Given the description of an element on the screen output the (x, y) to click on. 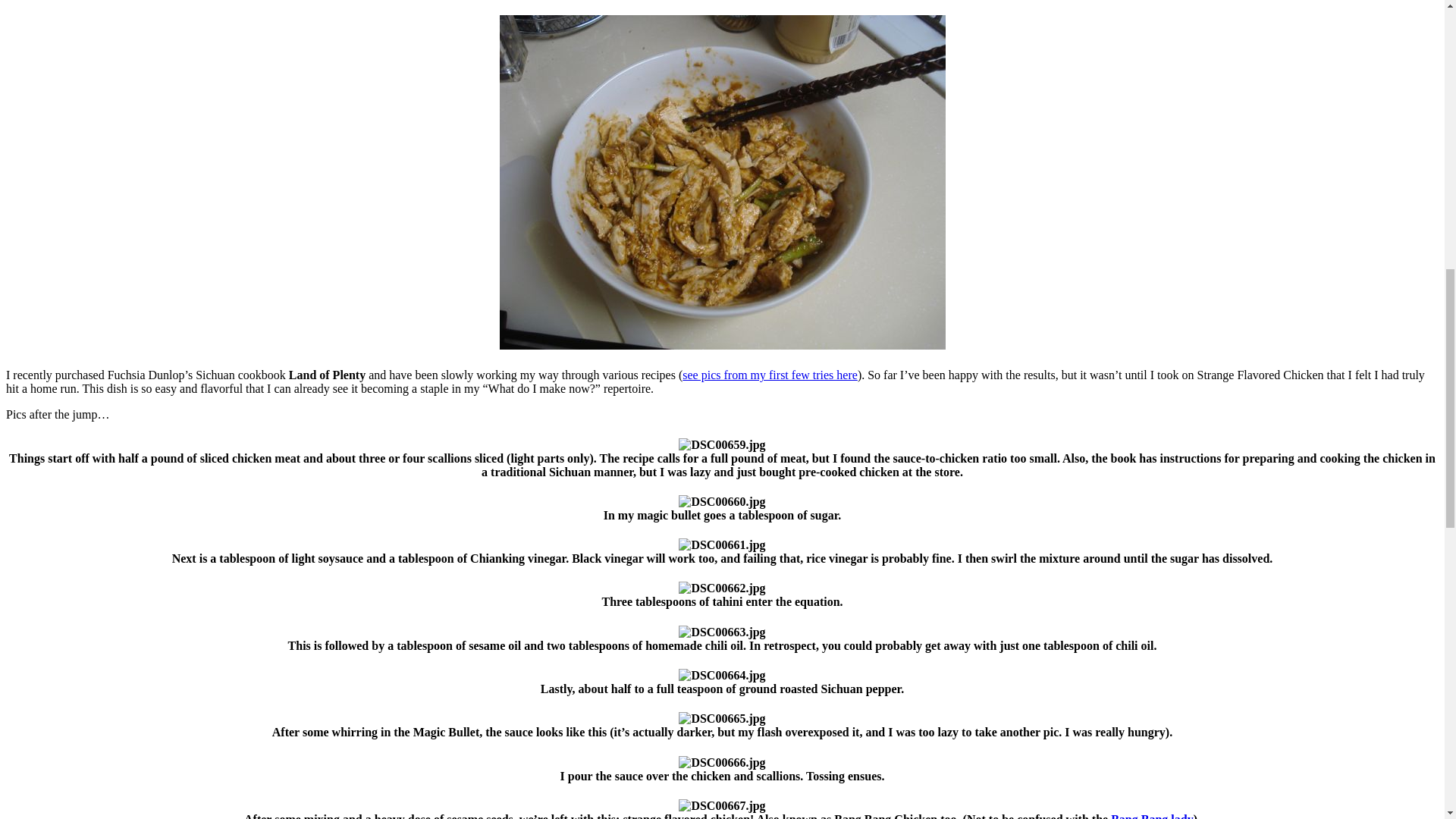
see pics from my first few tries here (769, 374)
Bang Bang lady (1151, 816)
